Given the description of an element on the screen output the (x, y) to click on. 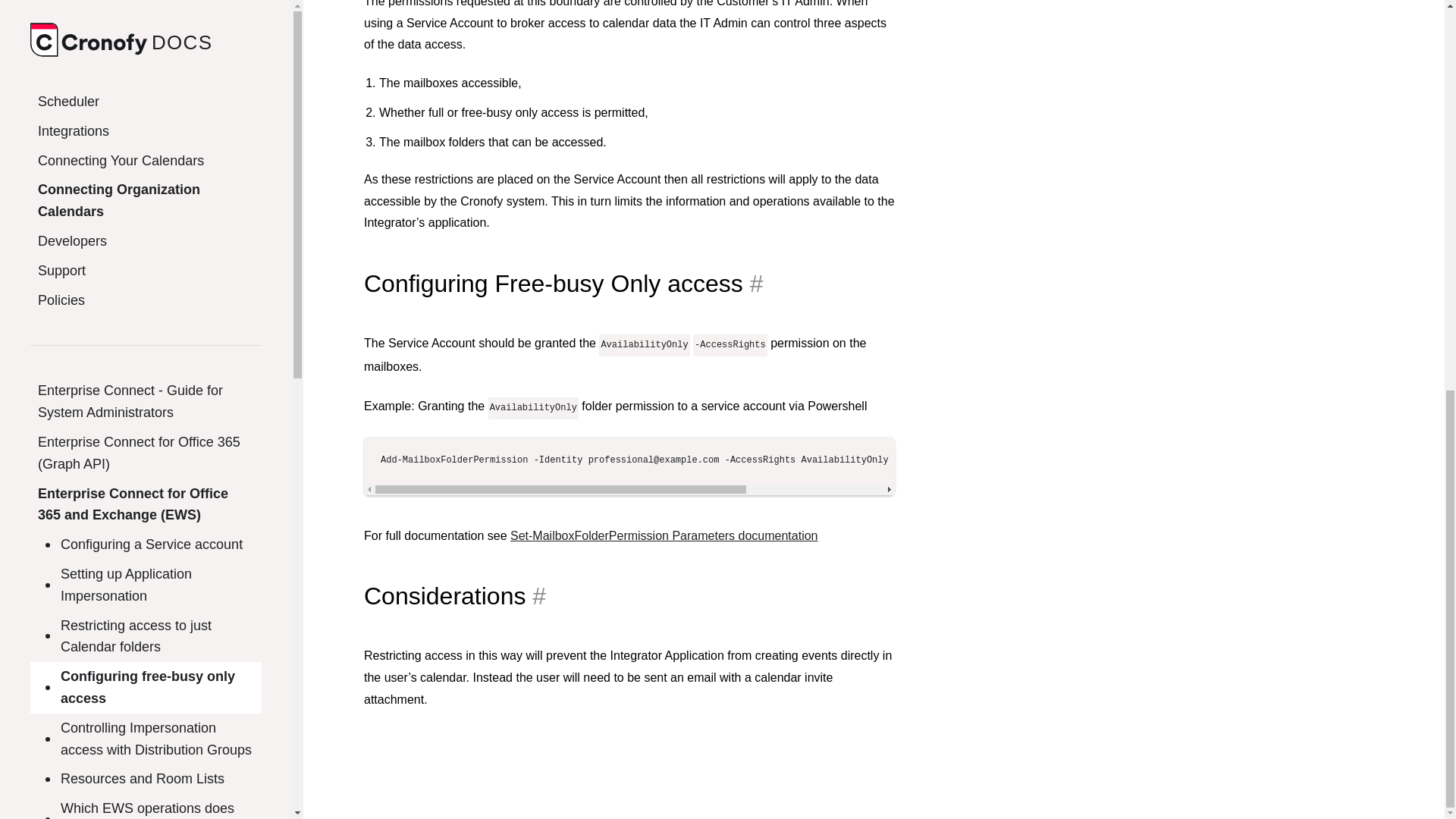
ISO 27701:2019 (140, 608)
Enterprise Connect for Google Workspace (146, 208)
ISO 27018:2019 (140, 539)
Resources and Room Lists (146, 35)
Which EWS operations does Cronofy utilize? (146, 76)
GDPR (113, 798)
Testing the Configuration (146, 167)
ISO.org - ISO27701 (58, 608)
Calendar Admin FAQs (146, 248)
ISO.org - ISO27018 (58, 539)
